Given the description of an element on the screen output the (x, y) to click on. 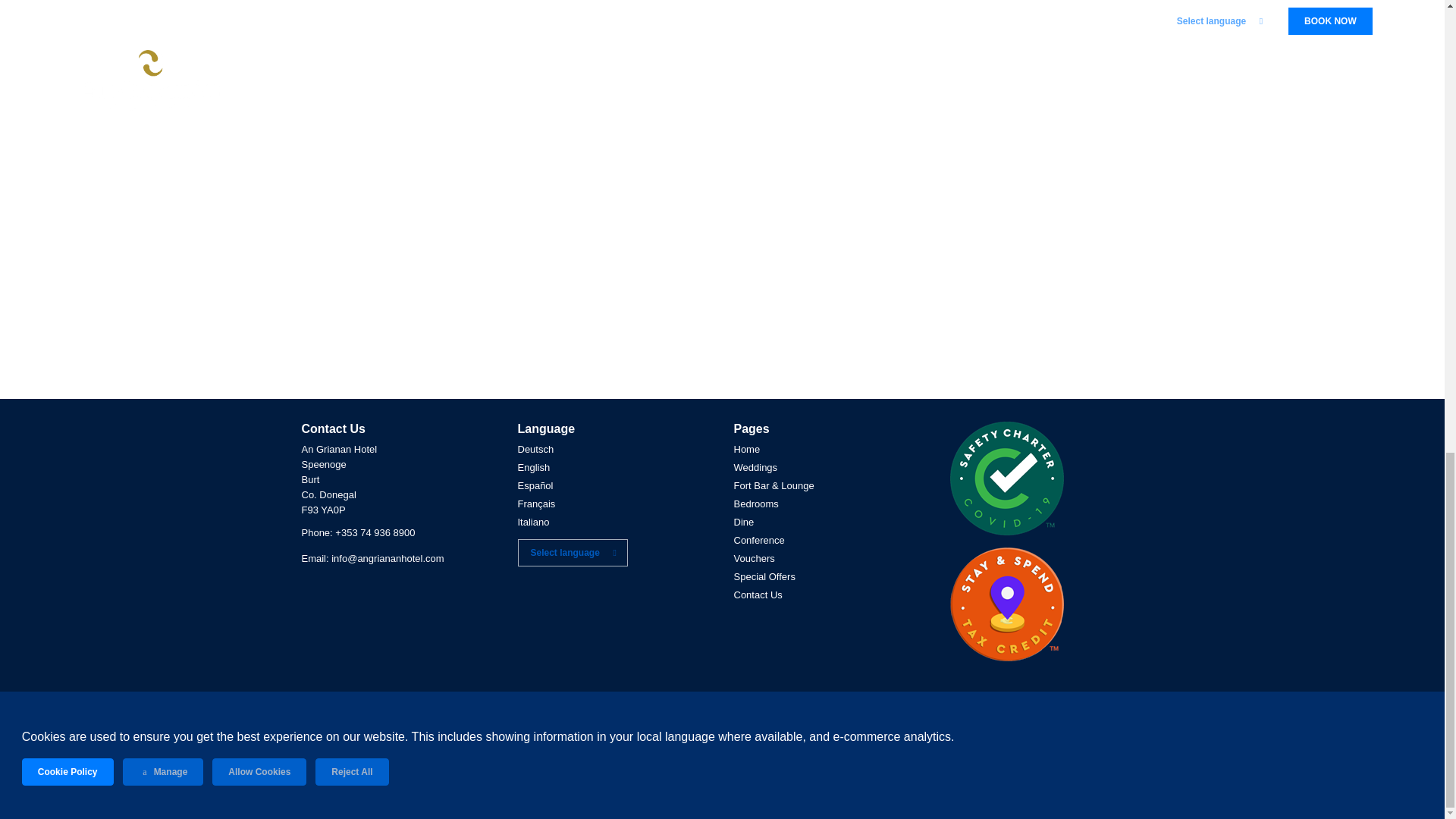
Deutsch (534, 449)
English (533, 467)
Italiano (532, 522)
